Given the description of an element on the screen output the (x, y) to click on. 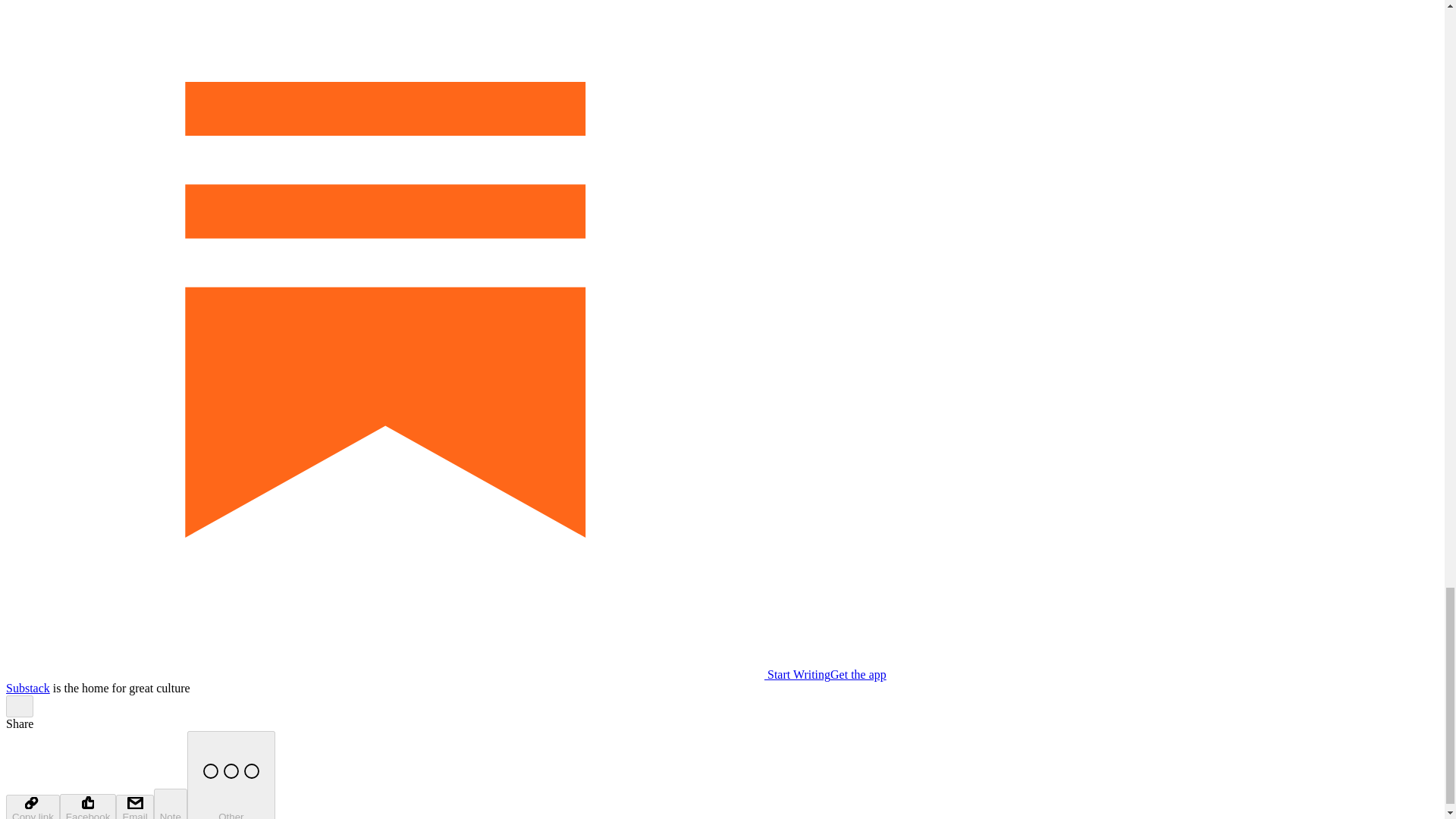
Get the app (857, 674)
Substack (27, 687)
Start Writing (417, 674)
